Given the description of an element on the screen output the (x, y) to click on. 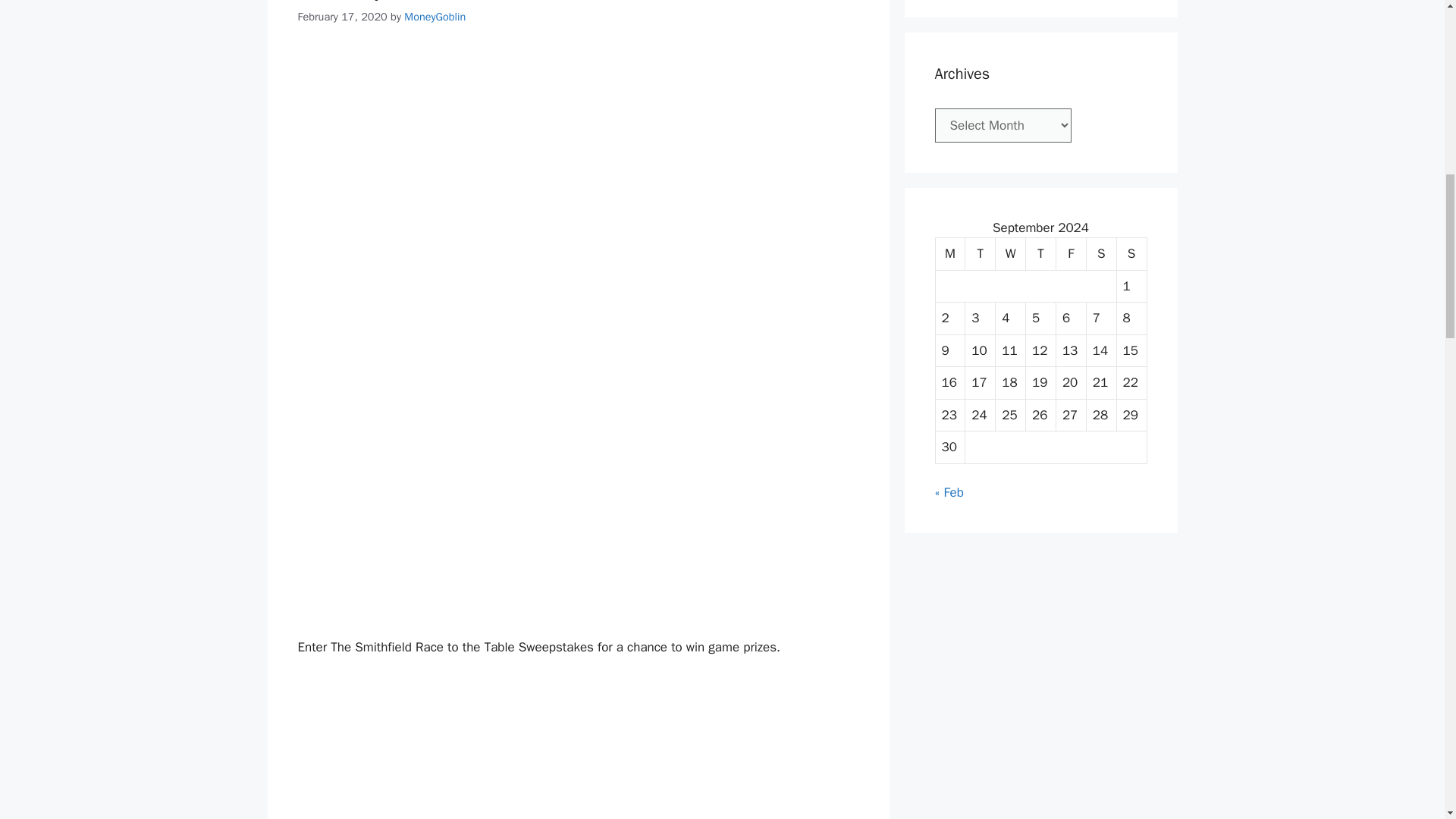
Saturday (1101, 254)
Friday (1071, 254)
Wednesday (1010, 254)
Monday (951, 254)
Tuesday (980, 254)
Thursday (1041, 254)
Sunday (1131, 254)
MoneyGoblin (434, 16)
View all posts by MoneyGoblin (434, 16)
